Given the description of an element on the screen output the (x, y) to click on. 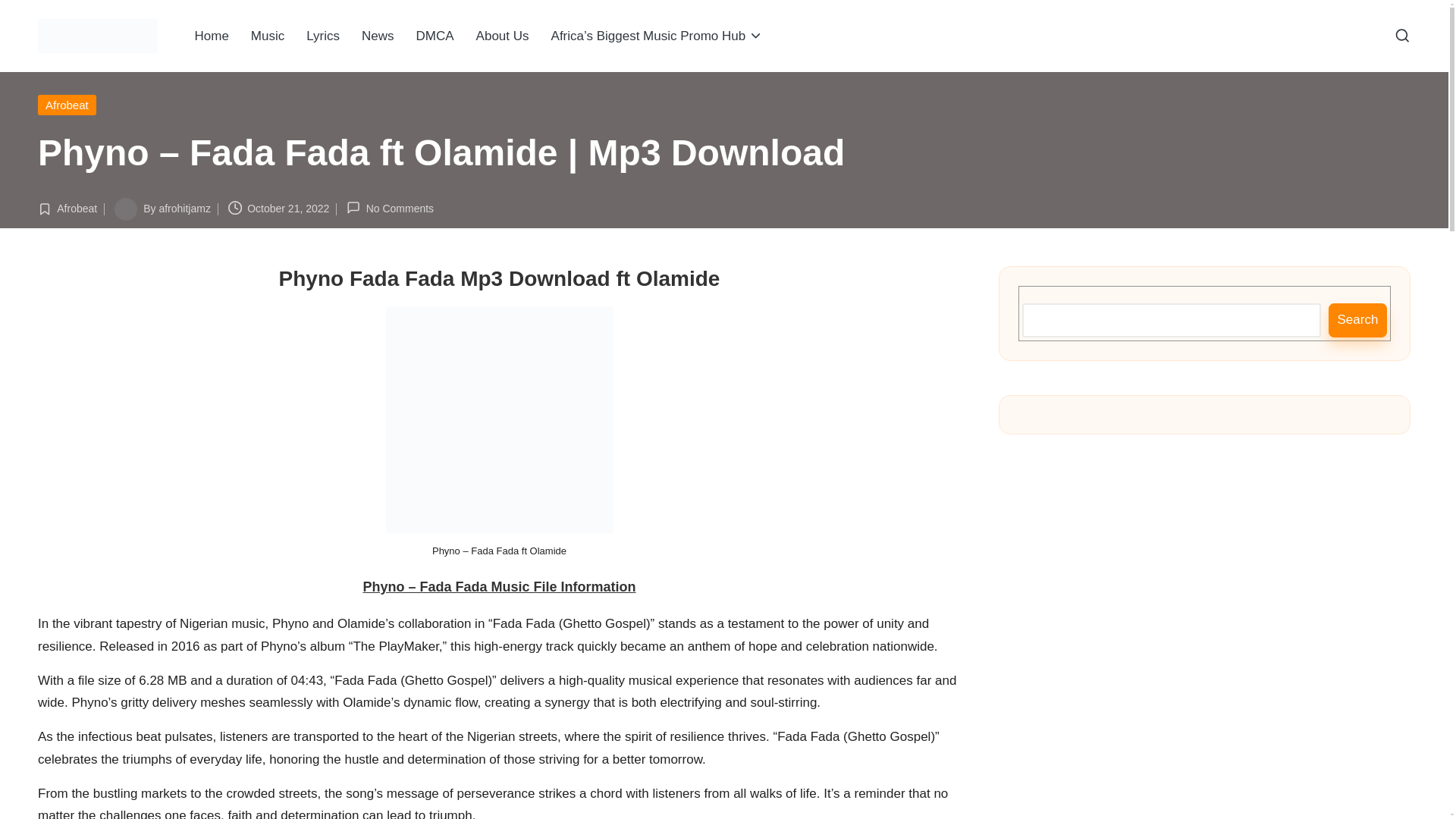
Music (267, 36)
Lyrics (322, 36)
Home (210, 36)
DMCA (435, 36)
News (377, 36)
About Us (502, 36)
View all posts by afrohitjamz (183, 208)
